Given the description of an element on the screen output the (x, y) to click on. 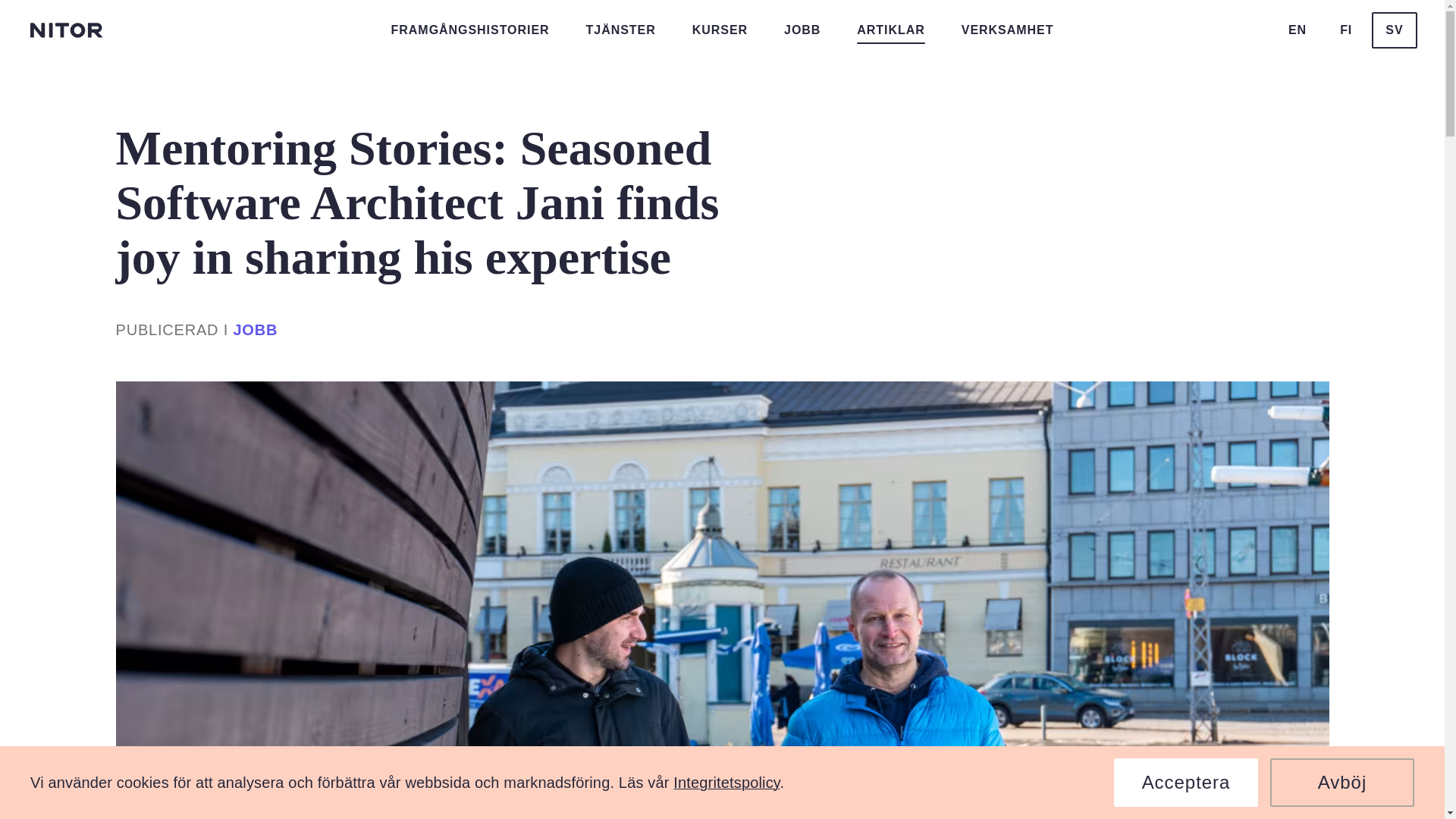
Acceptera (1185, 782)
EN (1297, 30)
ARTIKLAR (890, 30)
JOBB (802, 30)
Integritetspolicy (725, 782)
KURSER (720, 30)
VERKSAMHET (1007, 30)
FI (1345, 30)
SV (1393, 30)
